Given the description of an element on the screen output the (x, y) to click on. 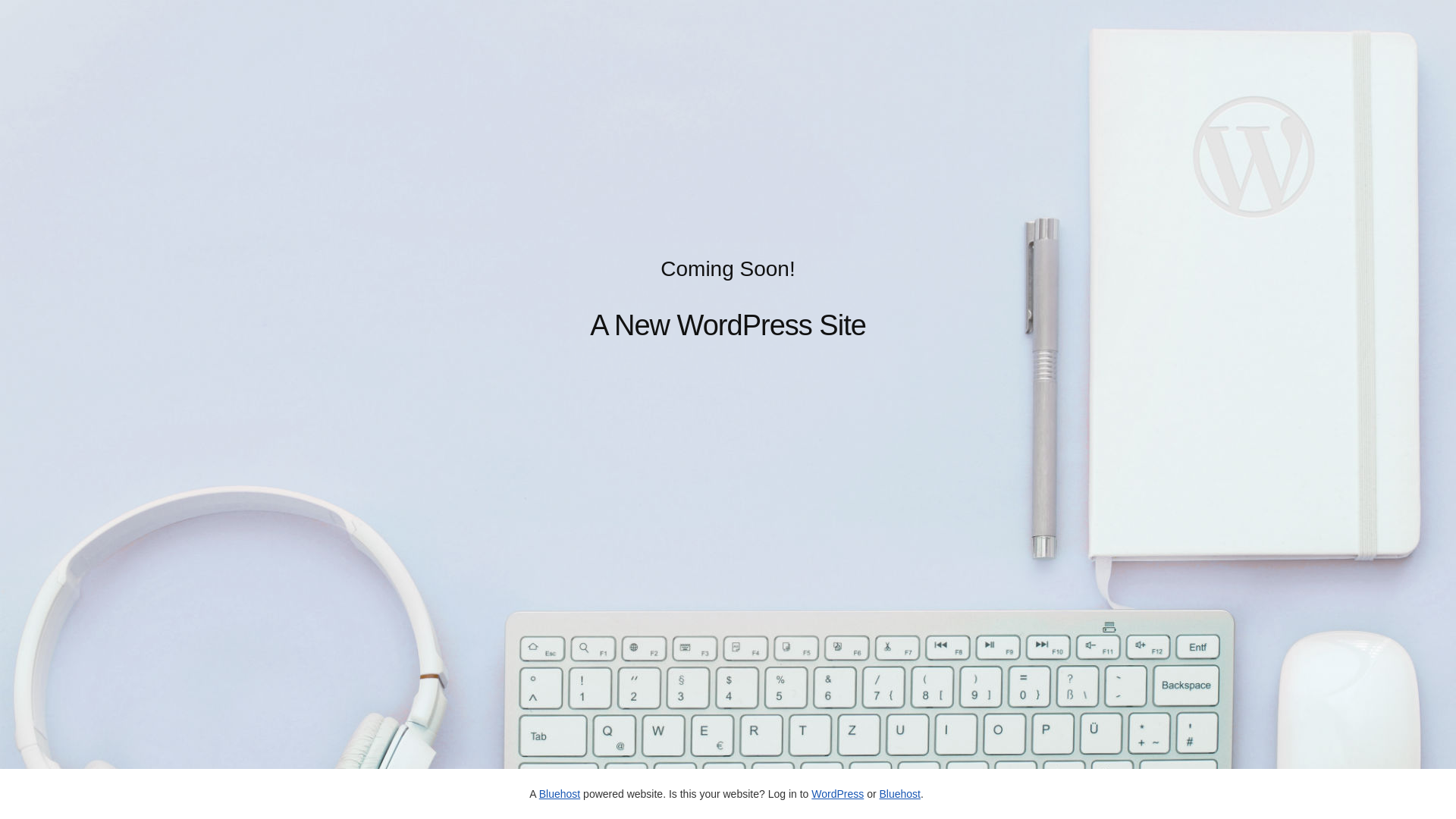
Bluehost Element type: text (559, 793)
Bluehost Element type: text (898, 793)
WordPress Element type: text (837, 793)
